Given the description of an element on the screen output the (x, y) to click on. 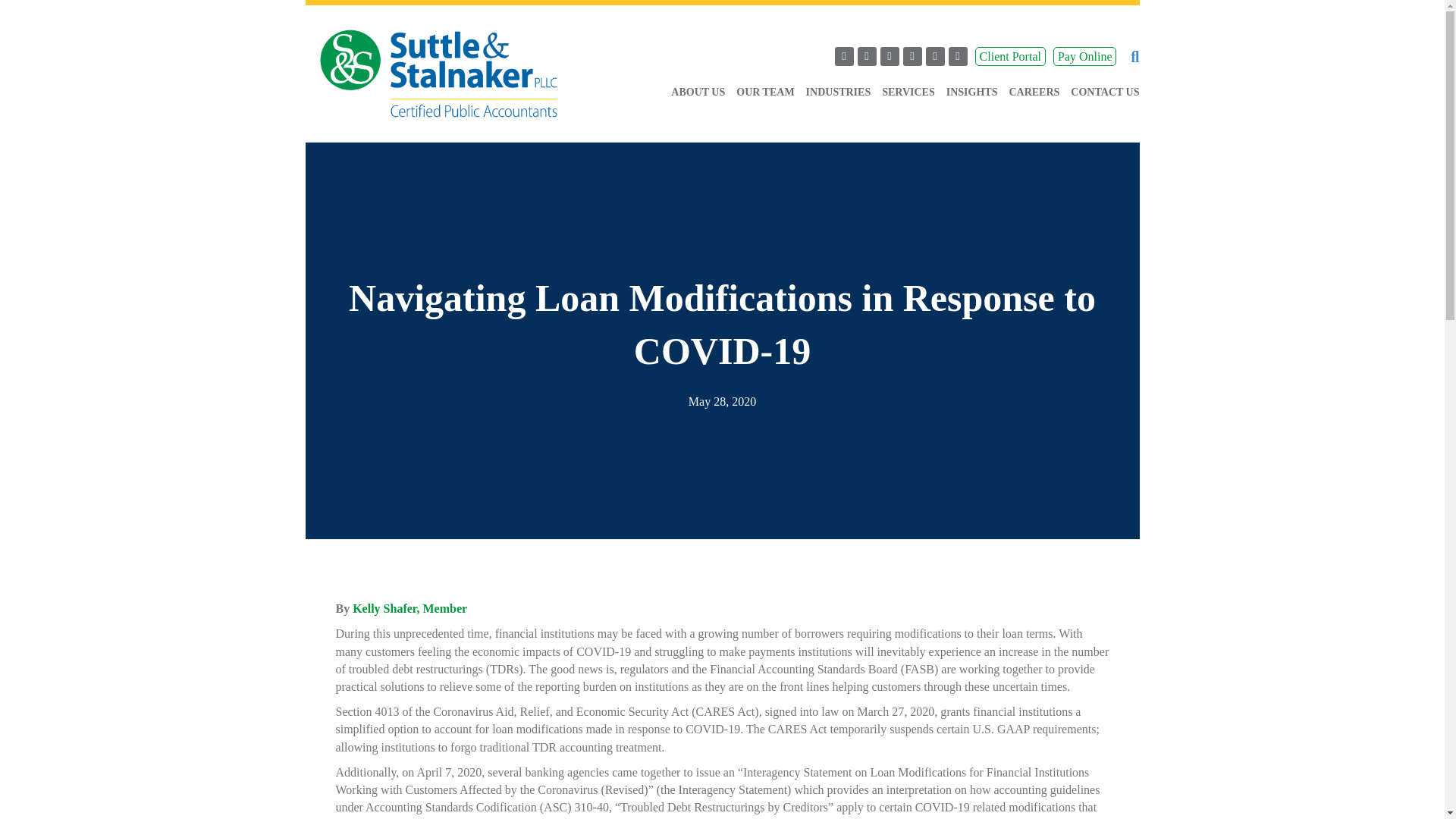
Linkedin (889, 56)
Youtube (911, 56)
Twitter (866, 56)
Facebook (843, 56)
Client Portal (1010, 56)
ABOUT US (692, 82)
Email (958, 56)
Instagram (935, 56)
Pay Online (1084, 56)
